Given the description of an element on the screen output the (x, y) to click on. 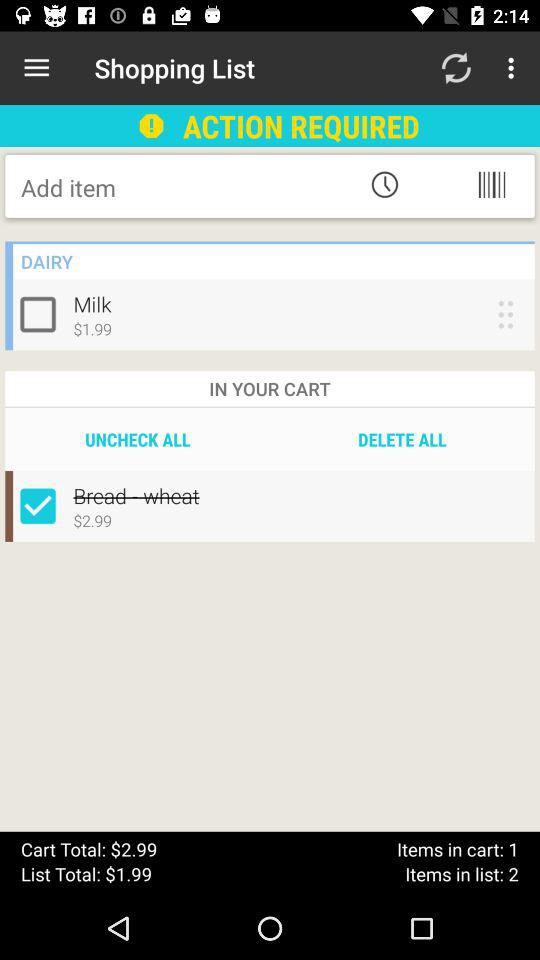
open the icon above action required icon (455, 67)
